Given the description of an element on the screen output the (x, y) to click on. 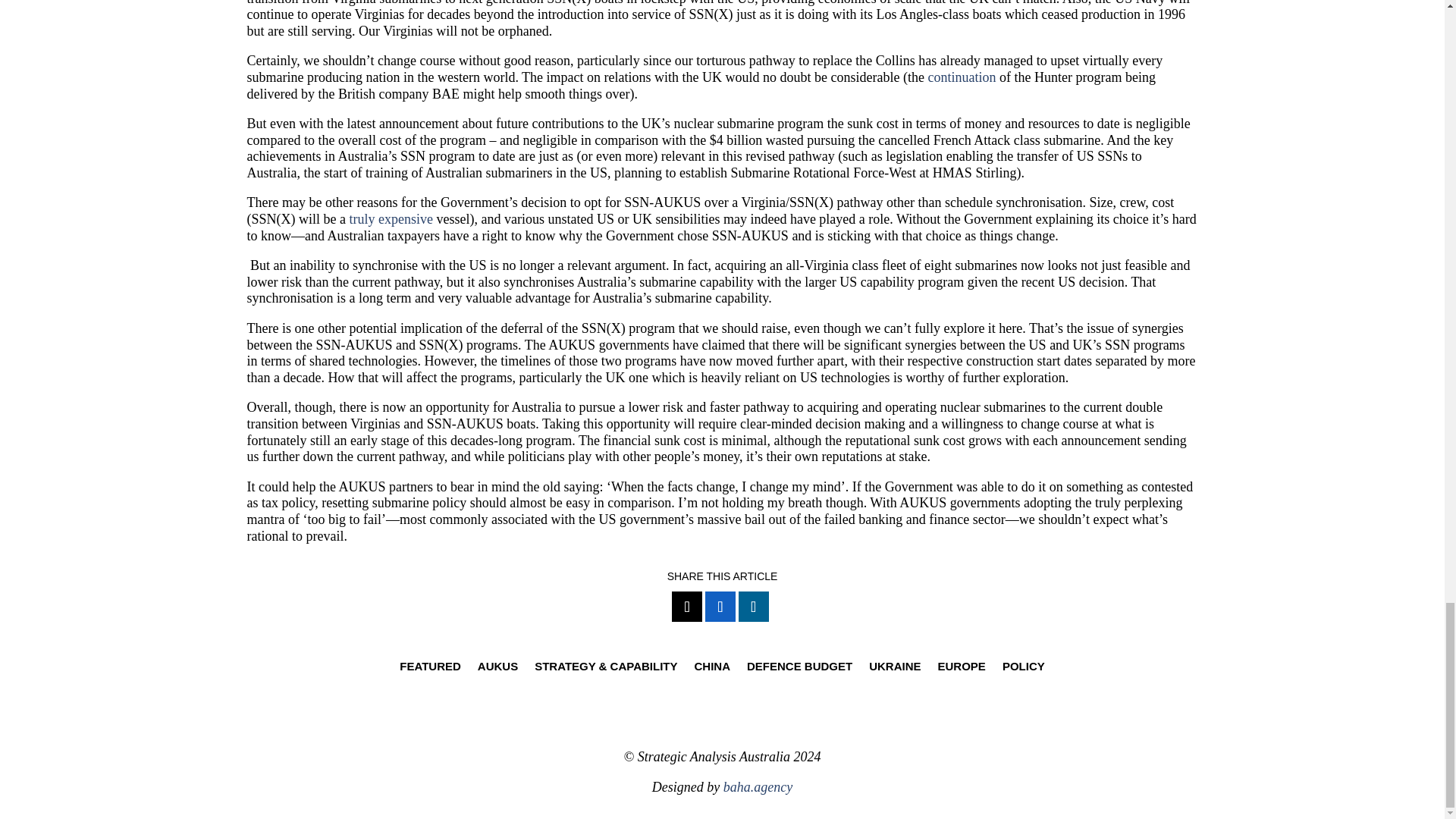
EUROPE (961, 669)
DEFENCE BUDGET (798, 669)
baha.agency (757, 786)
truly expensive (390, 218)
UKRAINE (894, 669)
continuation (961, 77)
FEATURED (429, 669)
AUKUS (497, 669)
CHINA (712, 669)
POLICY (1024, 669)
